Given the description of an element on the screen output the (x, y) to click on. 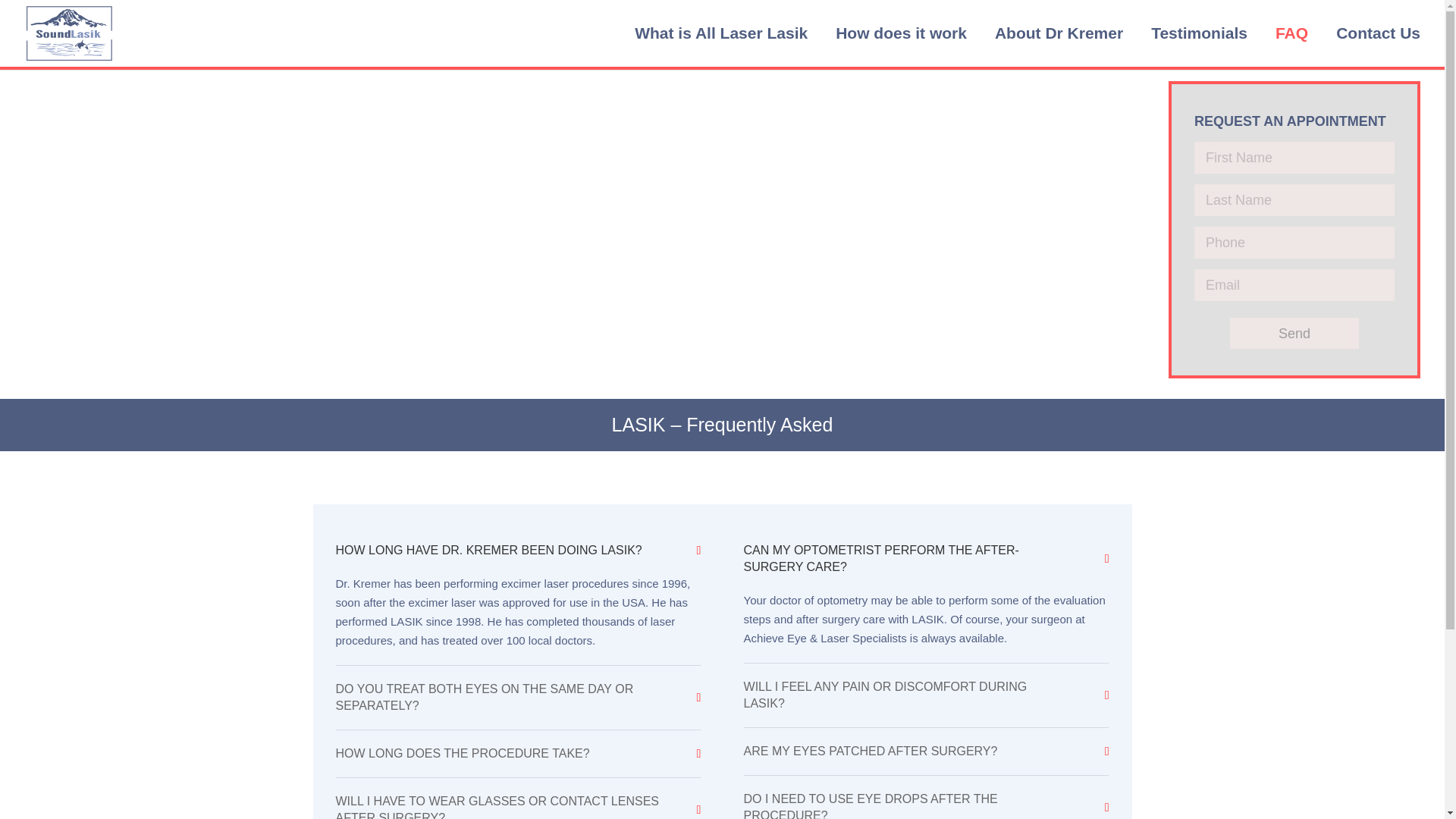
What is All Laser Lasik (715, 32)
About Dr Kremer (1053, 32)
How does it work (895, 32)
Send (1294, 332)
Contact Us (1372, 32)
Testimonials (1193, 32)
FAQ (1285, 32)
